Given the description of an element on the screen output the (x, y) to click on. 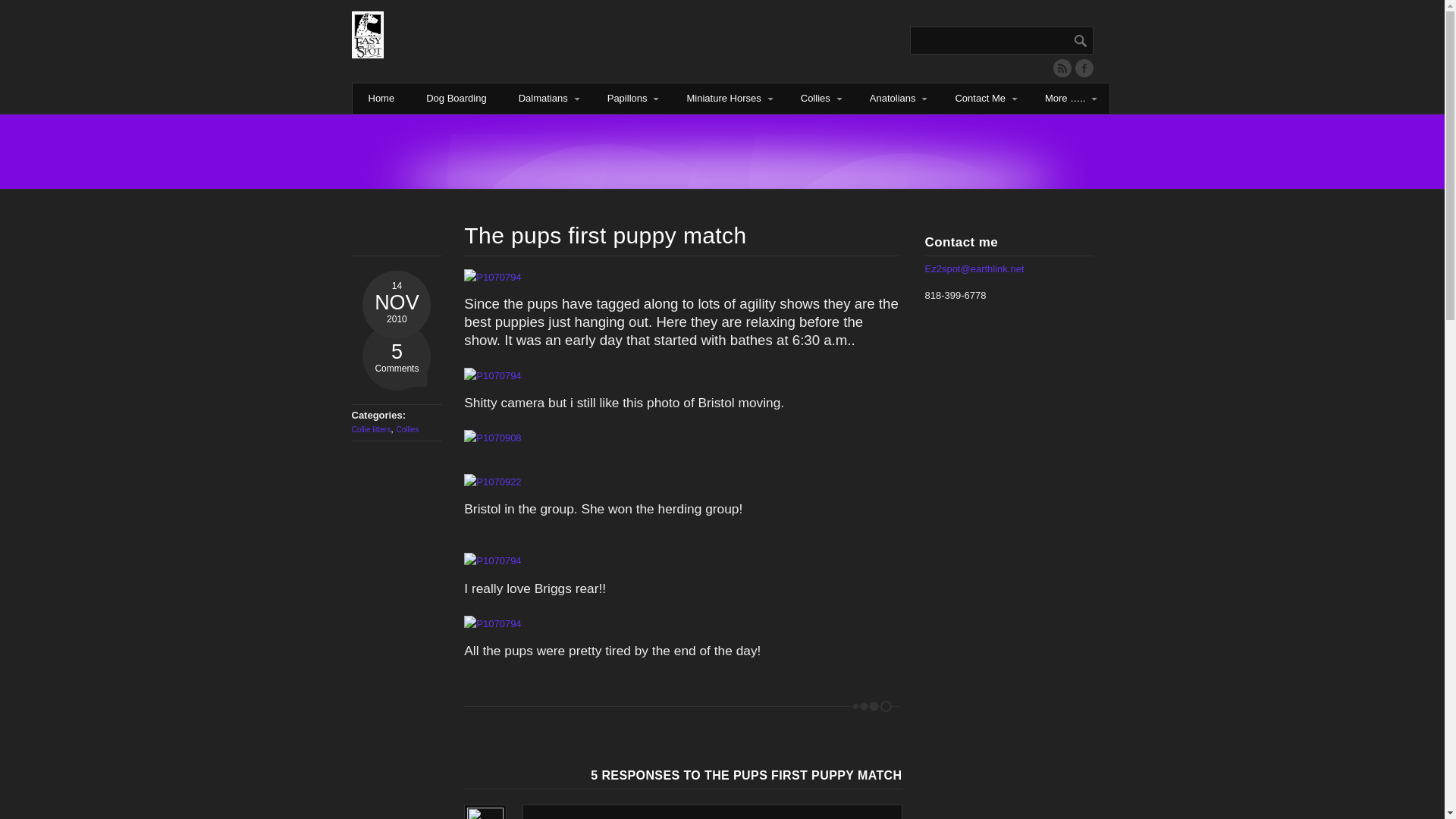
P1070794 (681, 623)
Twitter (1084, 67)
Dalmatians (546, 98)
Dog Boarding (456, 98)
P1070794 (681, 276)
P1070908 (681, 437)
P1070922 (681, 482)
Papillons (631, 98)
Home (381, 98)
P1070794 (681, 375)
P1070794 (681, 560)
Permanent Link: The pups first puppy match (604, 235)
RSS (1061, 67)
